Given the description of an element on the screen output the (x, y) to click on. 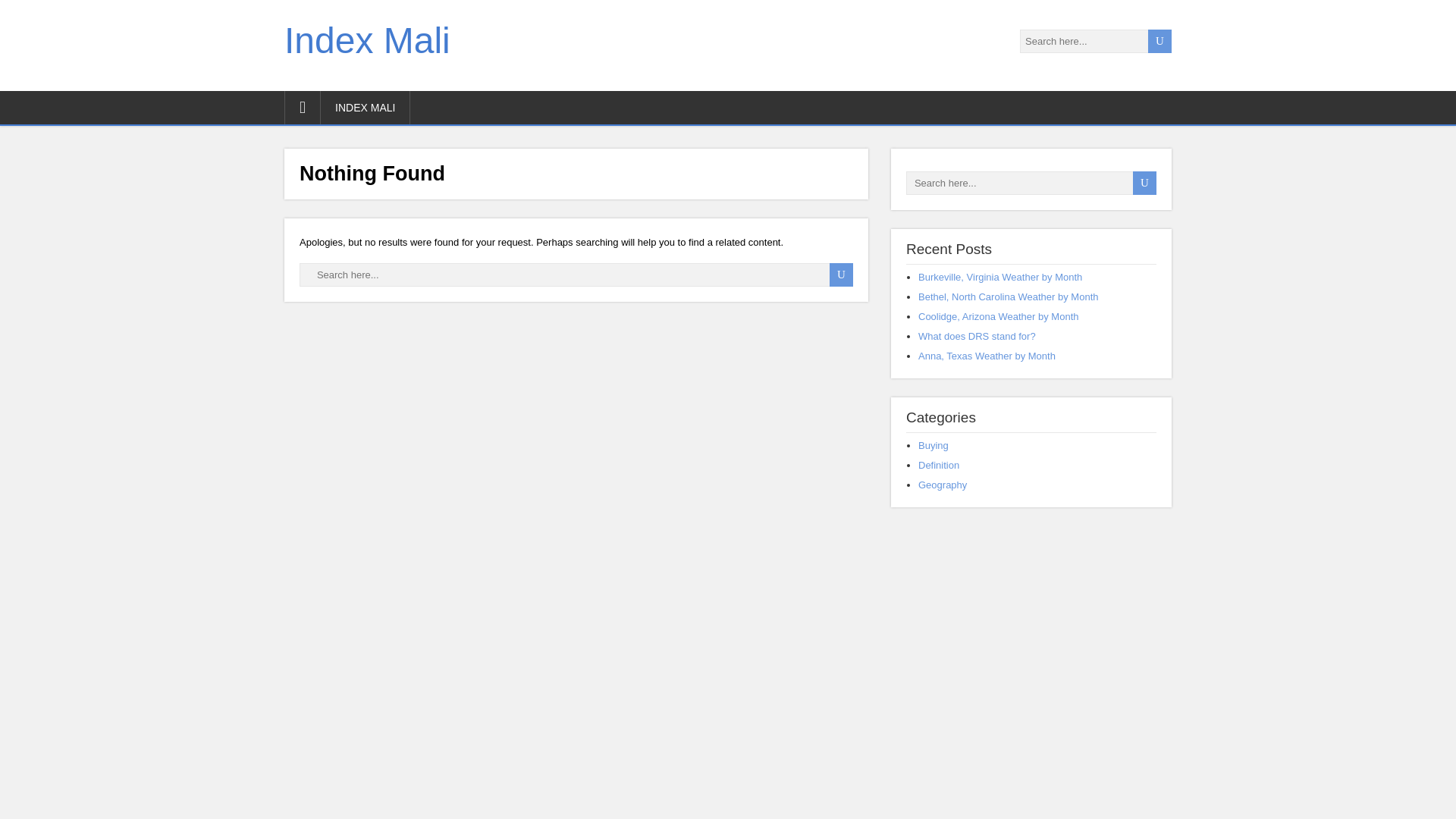
U (1160, 41)
U (841, 274)
Burkeville, Virginia Weather by Month (999, 276)
INDEX MALI (365, 107)
U (841, 274)
U (841, 274)
U (1160, 41)
Anna, Texas Weather by Month (986, 355)
Buying (933, 445)
U (1144, 182)
